Given the description of an element on the screen output the (x, y) to click on. 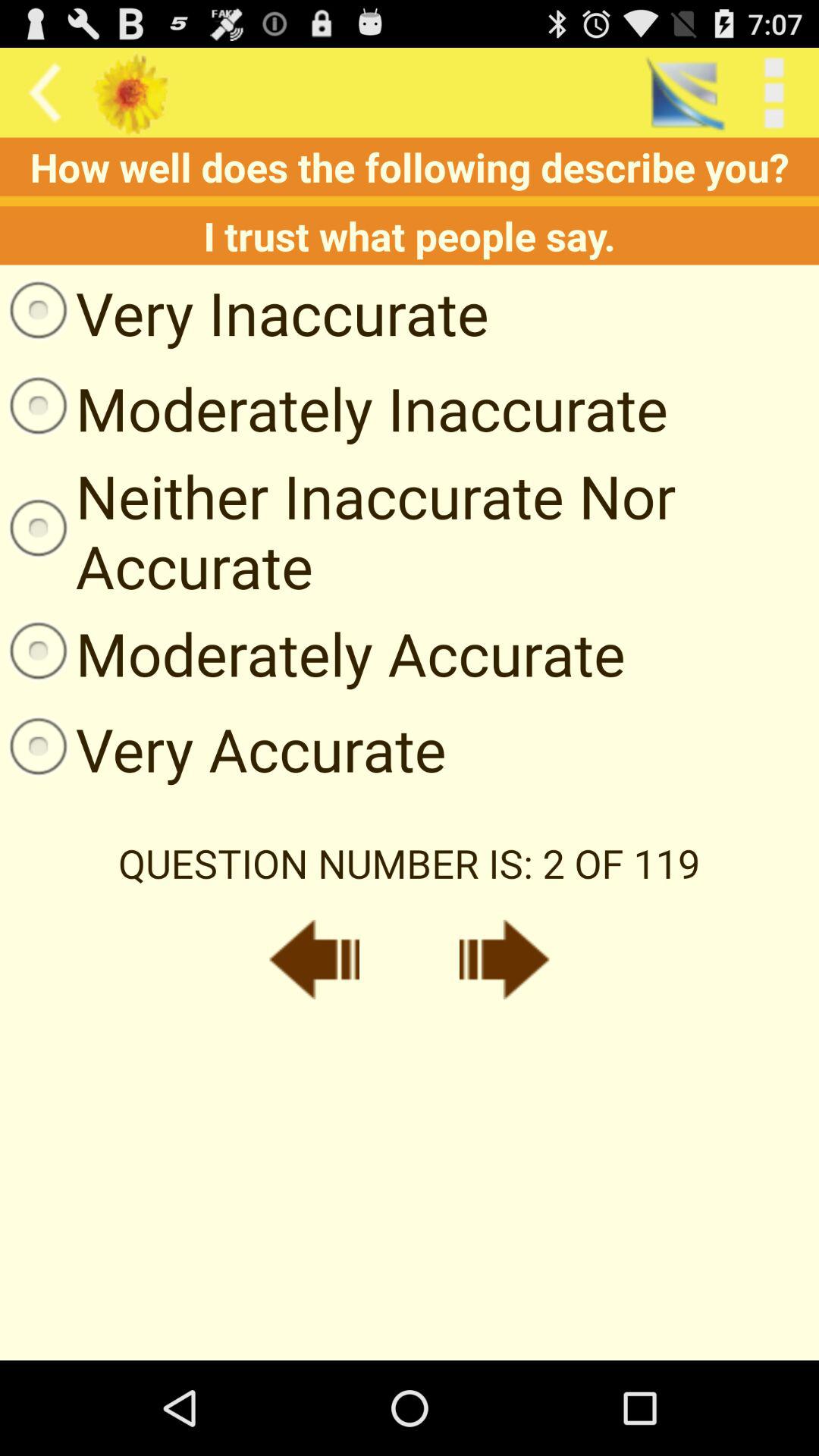
select moderately accurate (312, 653)
